Given the description of an element on the screen output the (x, y) to click on. 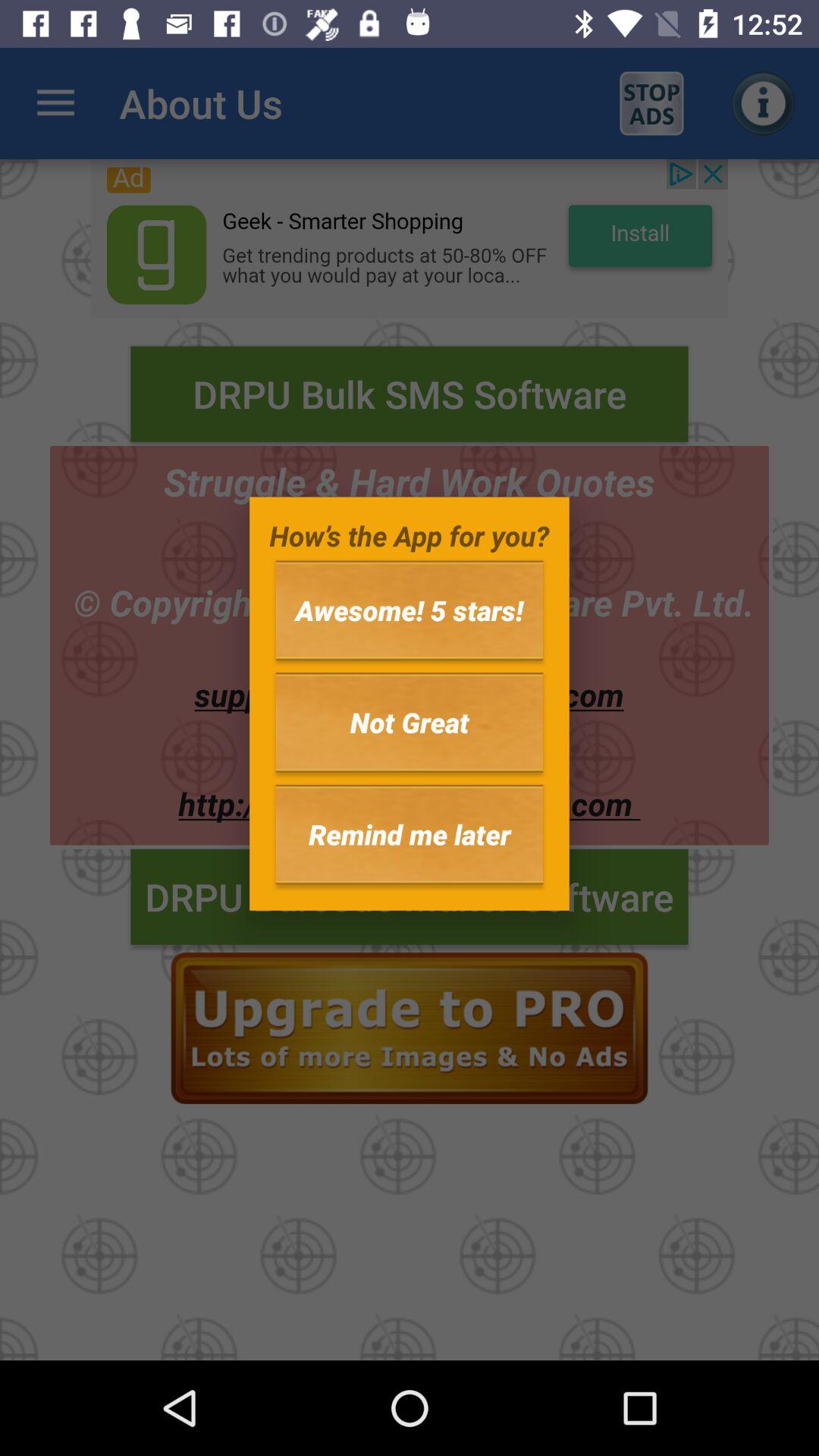
turn on item below the awesome! 5 stars! icon (409, 722)
